Given the description of an element on the screen output the (x, y) to click on. 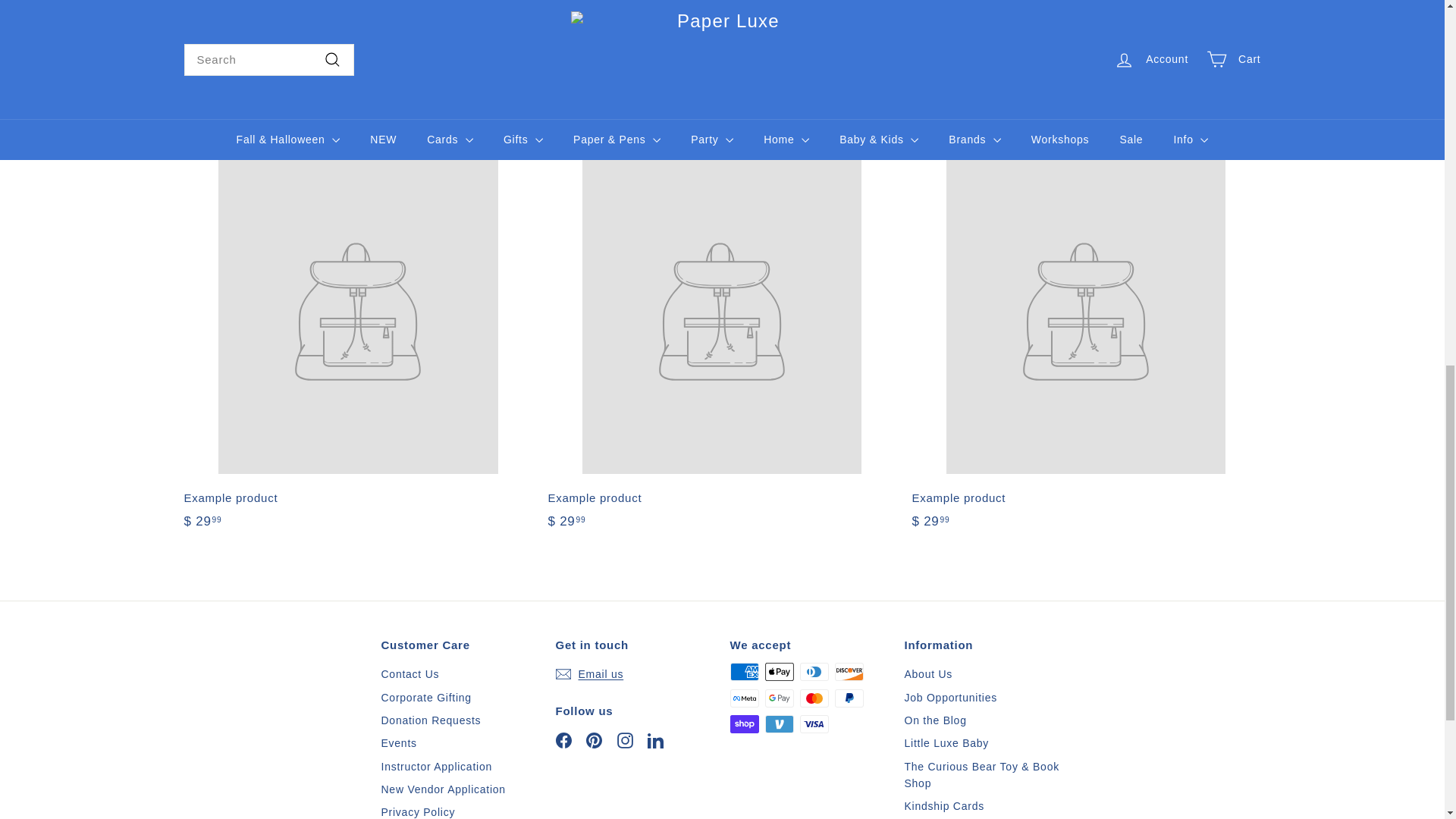
Paper Luxe on LinkedIn (655, 740)
Paper Luxe on Pinterest (594, 740)
Paper Luxe on Instagram (625, 740)
Paper Luxe on Facebook (562, 740)
